Given the description of an element on the screen output the (x, y) to click on. 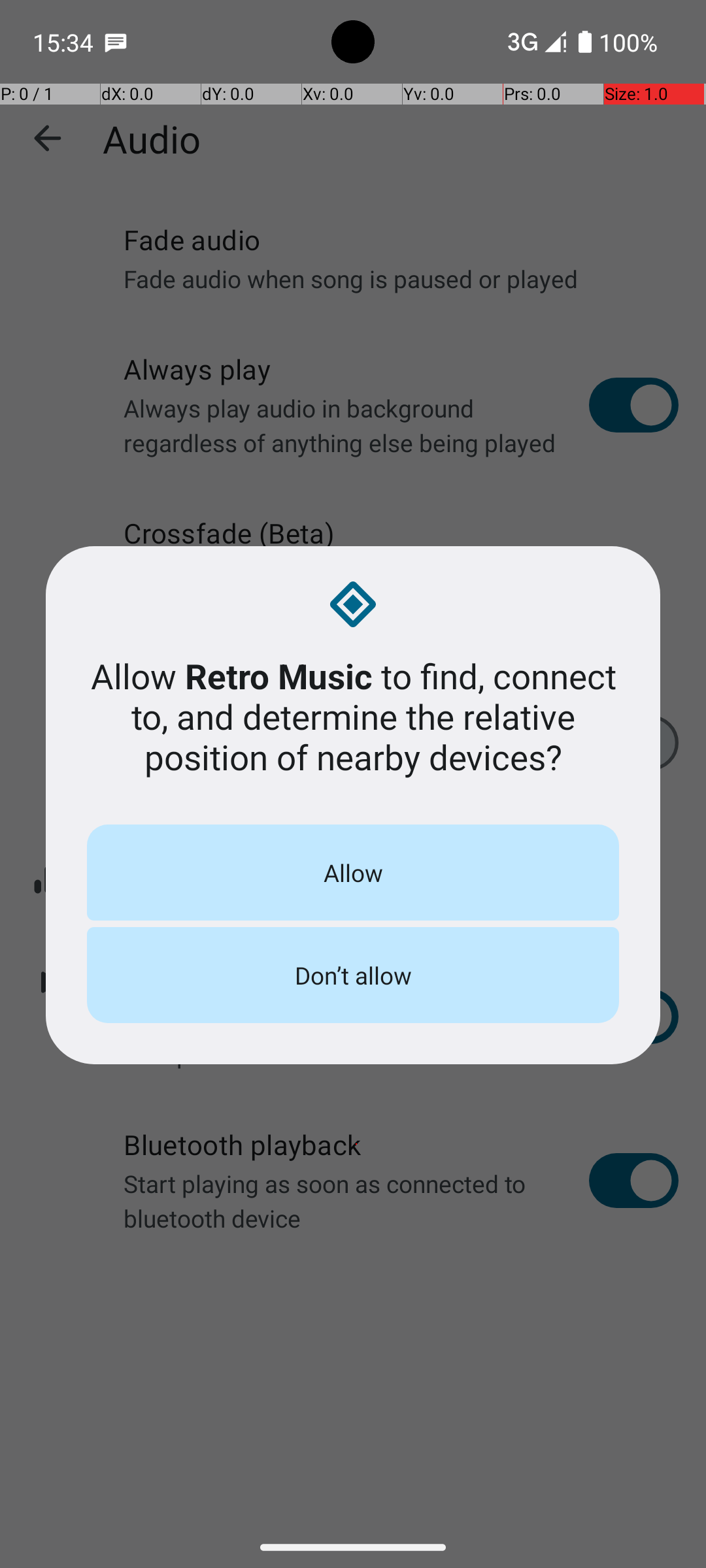
Allow Retro Music to find, connect to, and determine the relative position of nearby devices? Element type: android.widget.TextView (352, 716)
Allow Element type: android.widget.Button (352, 872)
Don’t allow Element type: android.widget.Button (352, 975)
